Given the description of an element on the screen output the (x, y) to click on. 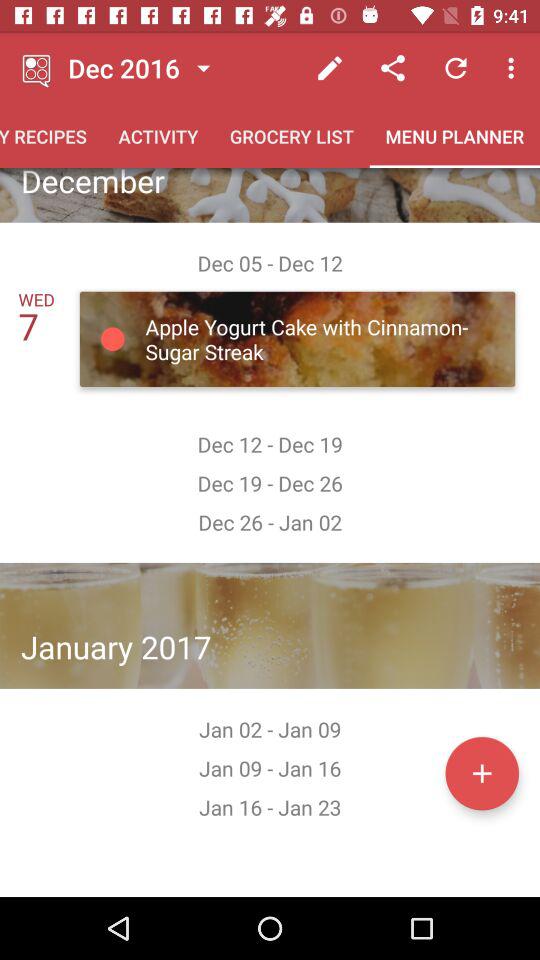
add button (482, 773)
